Given the description of an element on the screen output the (x, y) to click on. 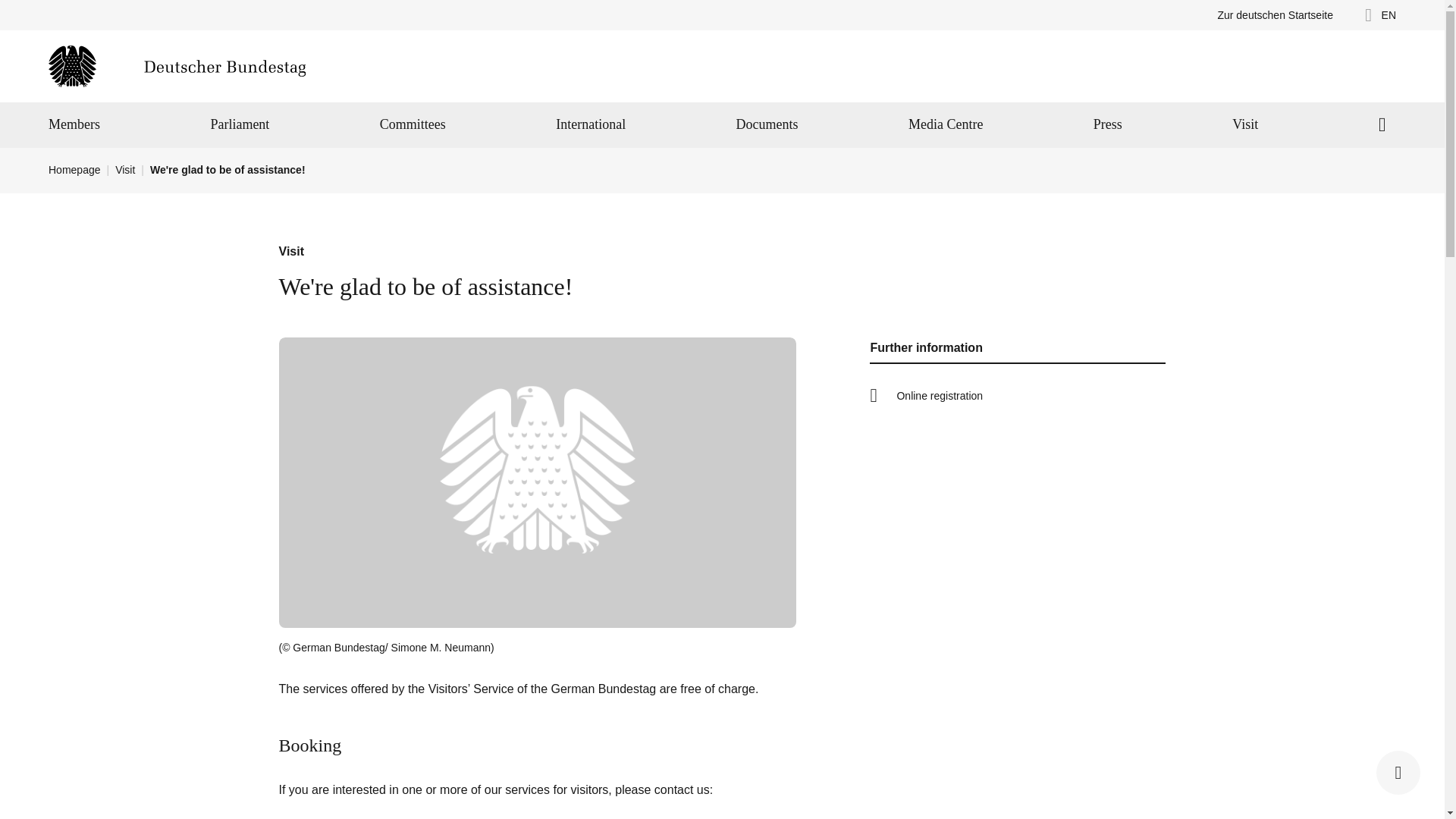
Direkt zum Hauptinhalt springen (8, 8)
Direkt zum Hauptinhalt springen (8, 8)
Parliament (239, 125)
Zur deutschen Startseite (1275, 15)
EN (1375, 15)
Zur deutschen Startseite (1275, 15)
Homepage (176, 65)
Members (74, 125)
